Given the description of an element on the screen output the (x, y) to click on. 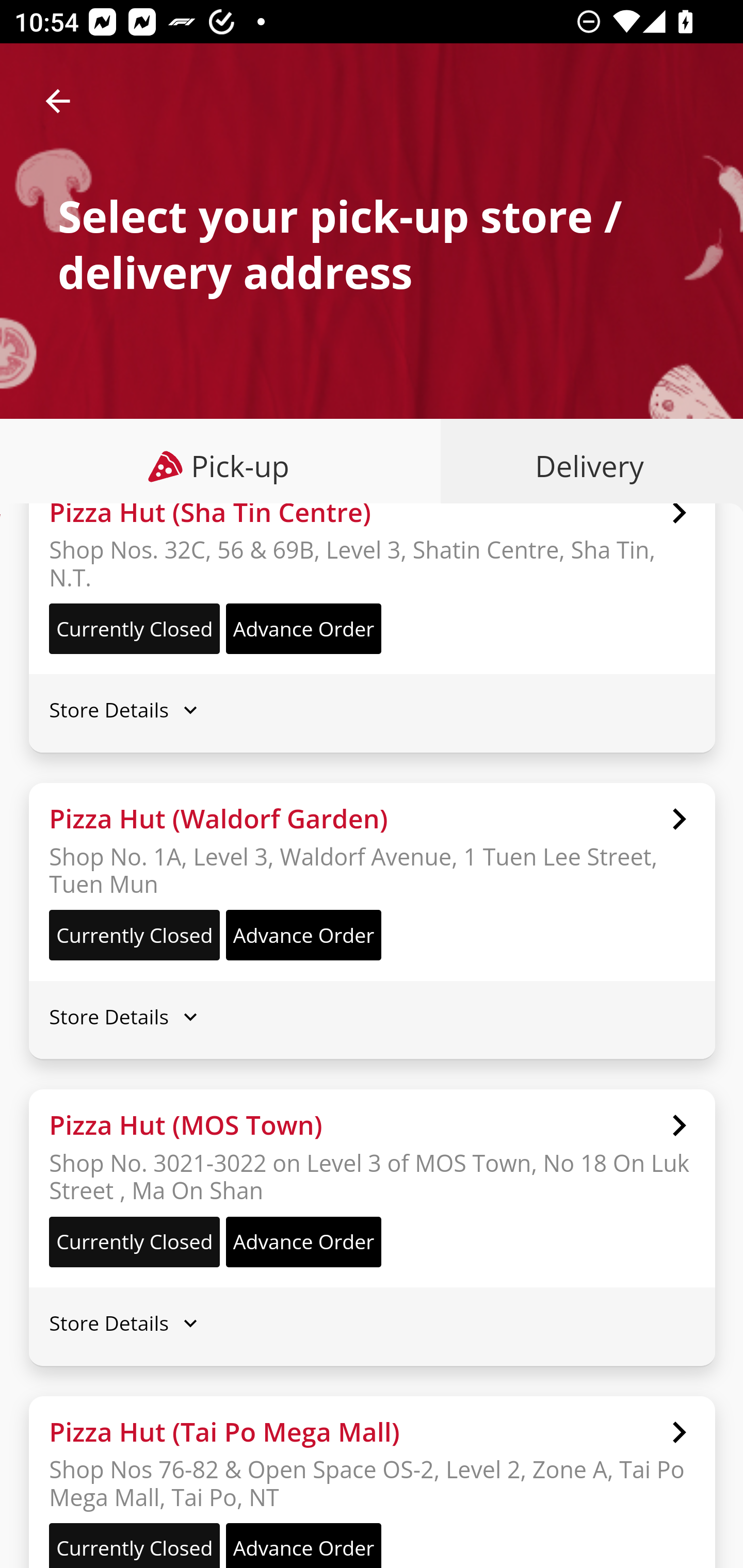
arrow_back (58, 100)
Pick-up (221, 466)
Delivery (585, 466)
Store Details (371, 709)
Store Details (371, 1016)
Store Details (371, 1322)
